Given the description of an element on the screen output the (x, y) to click on. 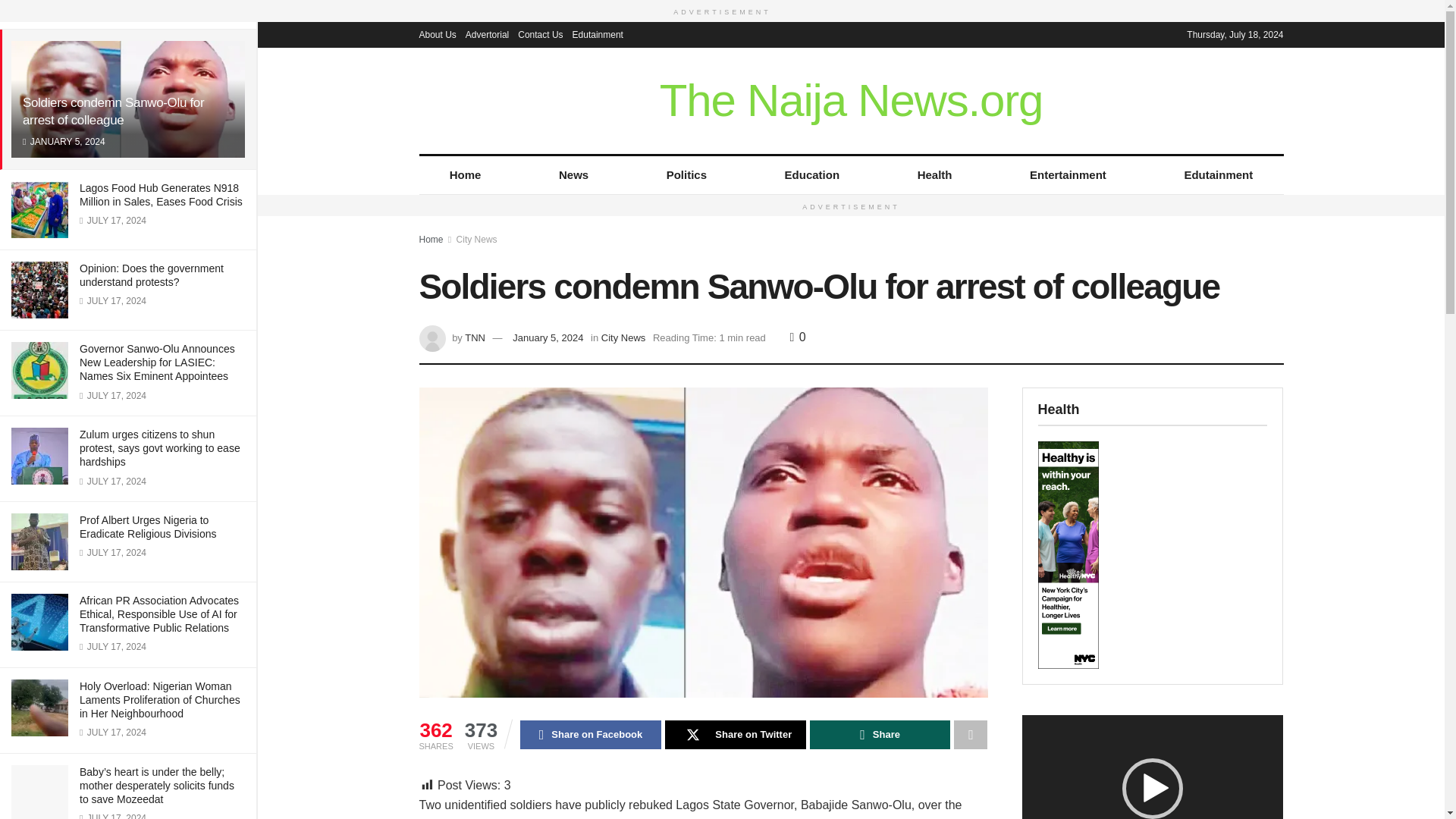
Home (465, 175)
Entertainment (1067, 175)
News (574, 175)
Health (933, 175)
Soldiers condemn Sanwo-Olu for arrest of colleague (113, 111)
The Naija News.org (850, 99)
Edutainment (1217, 175)
Prof Albert Urges Nigeria to Eradicate Religious Divisions (148, 526)
Education (811, 175)
Contact Us (540, 33)
Politics (685, 175)
Advertorial (486, 33)
Edutainment (597, 33)
